Given the description of an element on the screen output the (x, y) to click on. 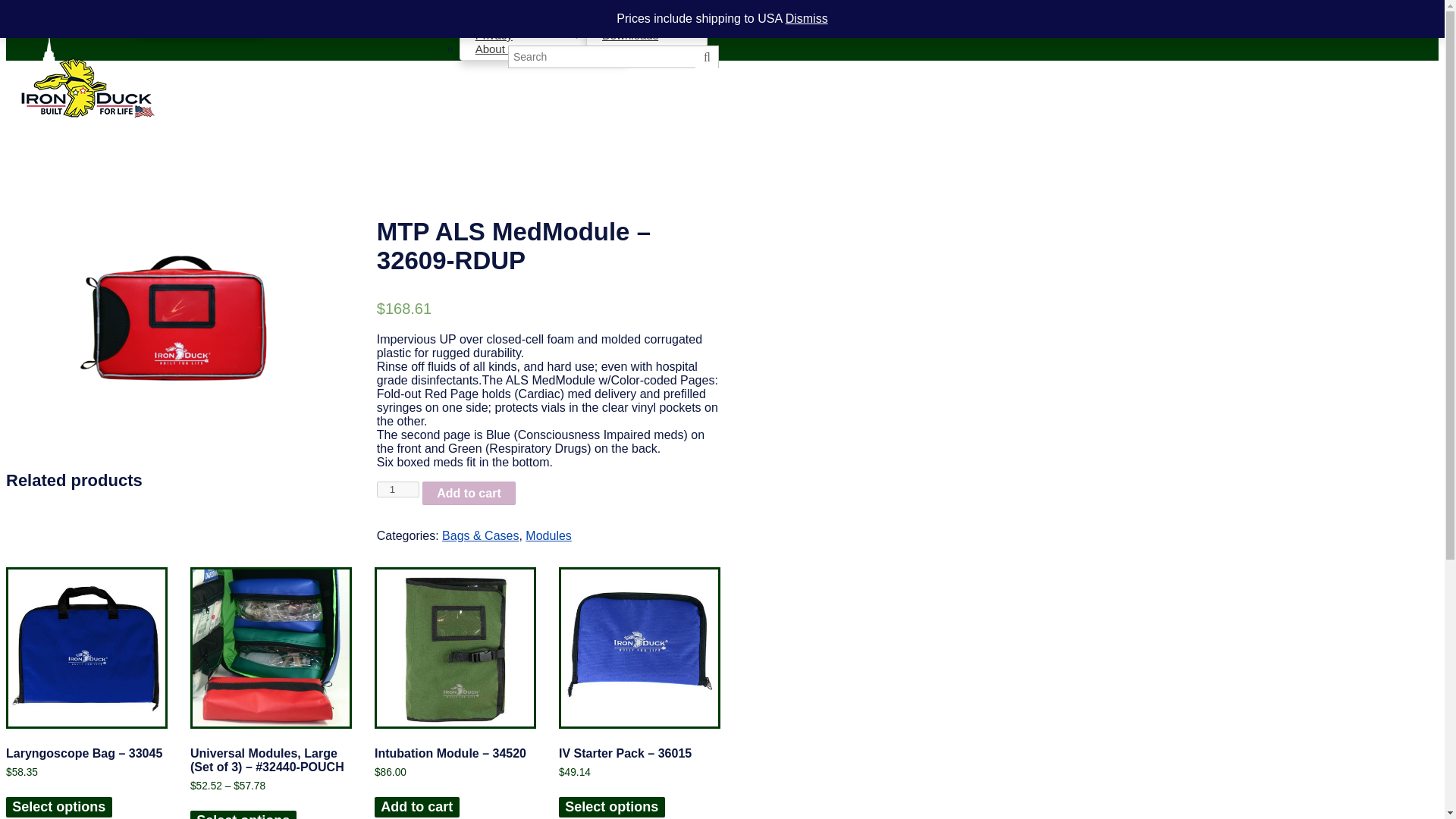
Modules (547, 535)
Select options (243, 814)
Downloads (614, 17)
Bag Accessories (196, 21)
Contact Us (519, 17)
Select options (58, 806)
Modules (176, 10)
About Us (498, 48)
Add to cart (468, 493)
Cart (568, 17)
Modules (176, 10)
F.A.Q.s (493, 8)
Downloads (622, 35)
1 (398, 489)
Bag Accessories (196, 21)
